Given the description of an element on the screen output the (x, y) to click on. 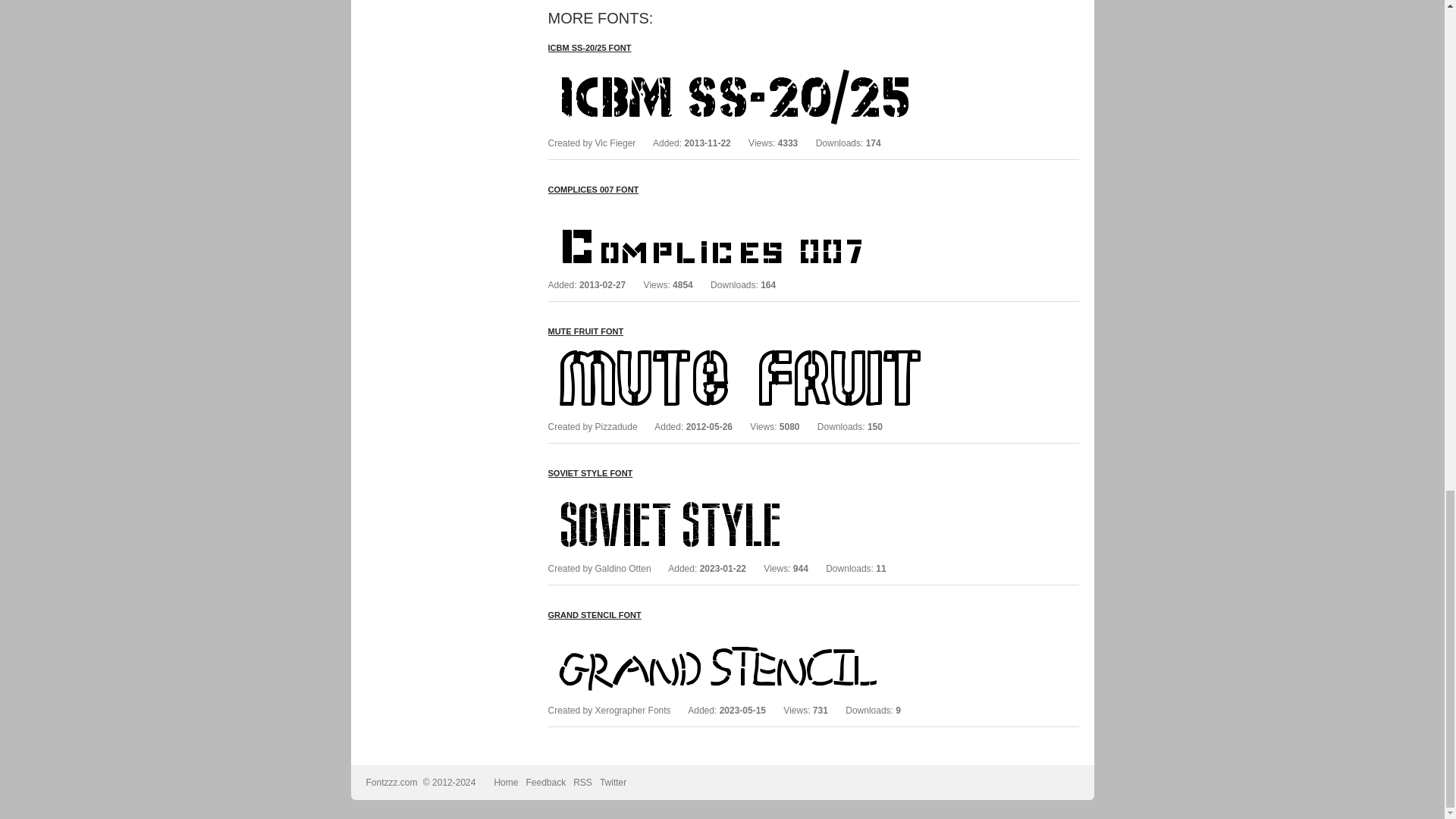
Complices 007 font (775, 208)
Grand Stencil font (775, 634)
Mute Fruit font (585, 330)
Complices 007 font (593, 189)
Soviet Style font (775, 492)
Mute Fruit font (775, 350)
Grand Stencil font (593, 614)
Soviet Style font (589, 472)
